Given the description of an element on the screen output the (x, y) to click on. 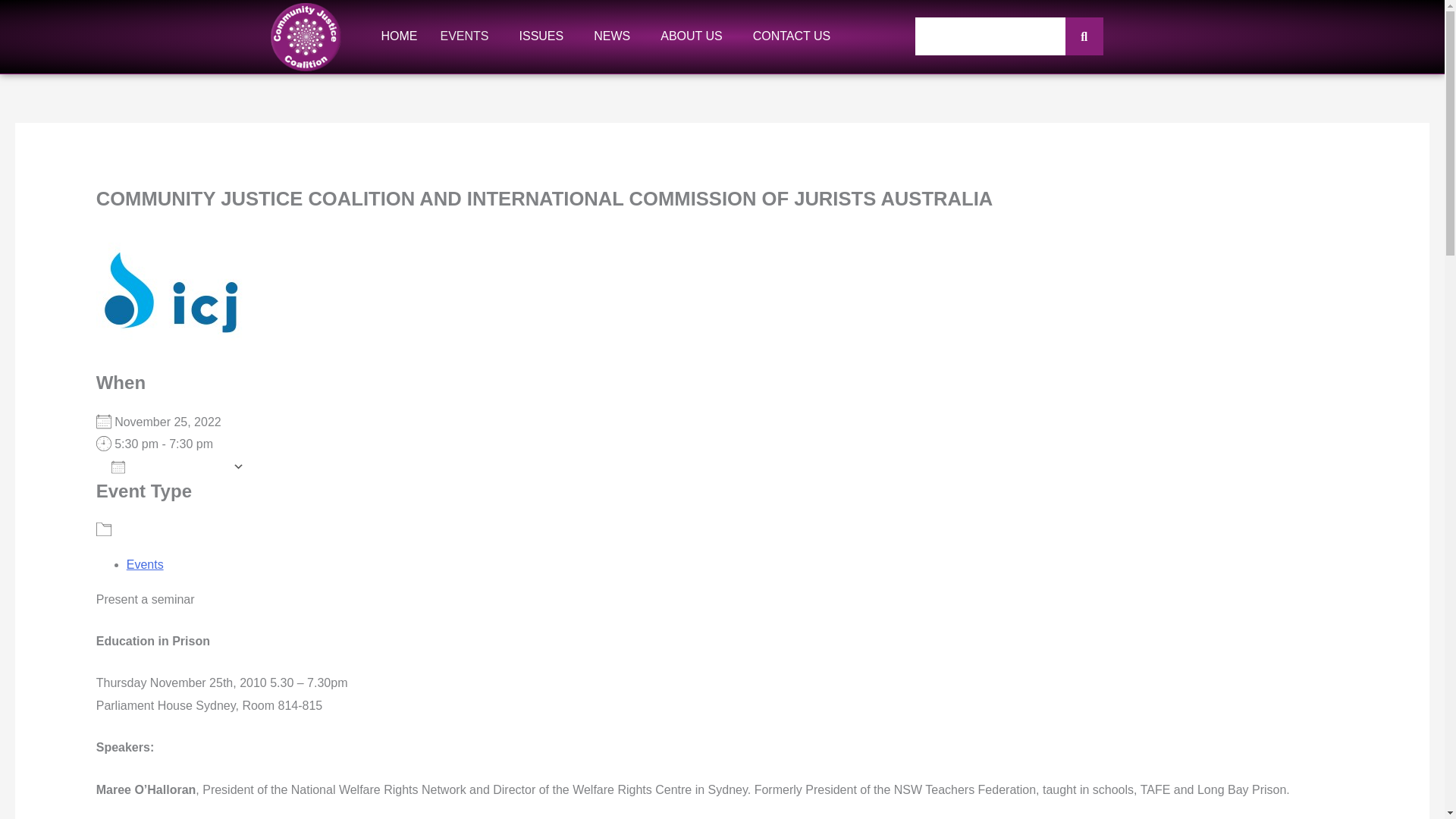
EVENTS (468, 36)
Search (989, 36)
NEWS (615, 36)
ISSUES (545, 36)
HOME (399, 36)
